Given the description of an element on the screen output the (x, y) to click on. 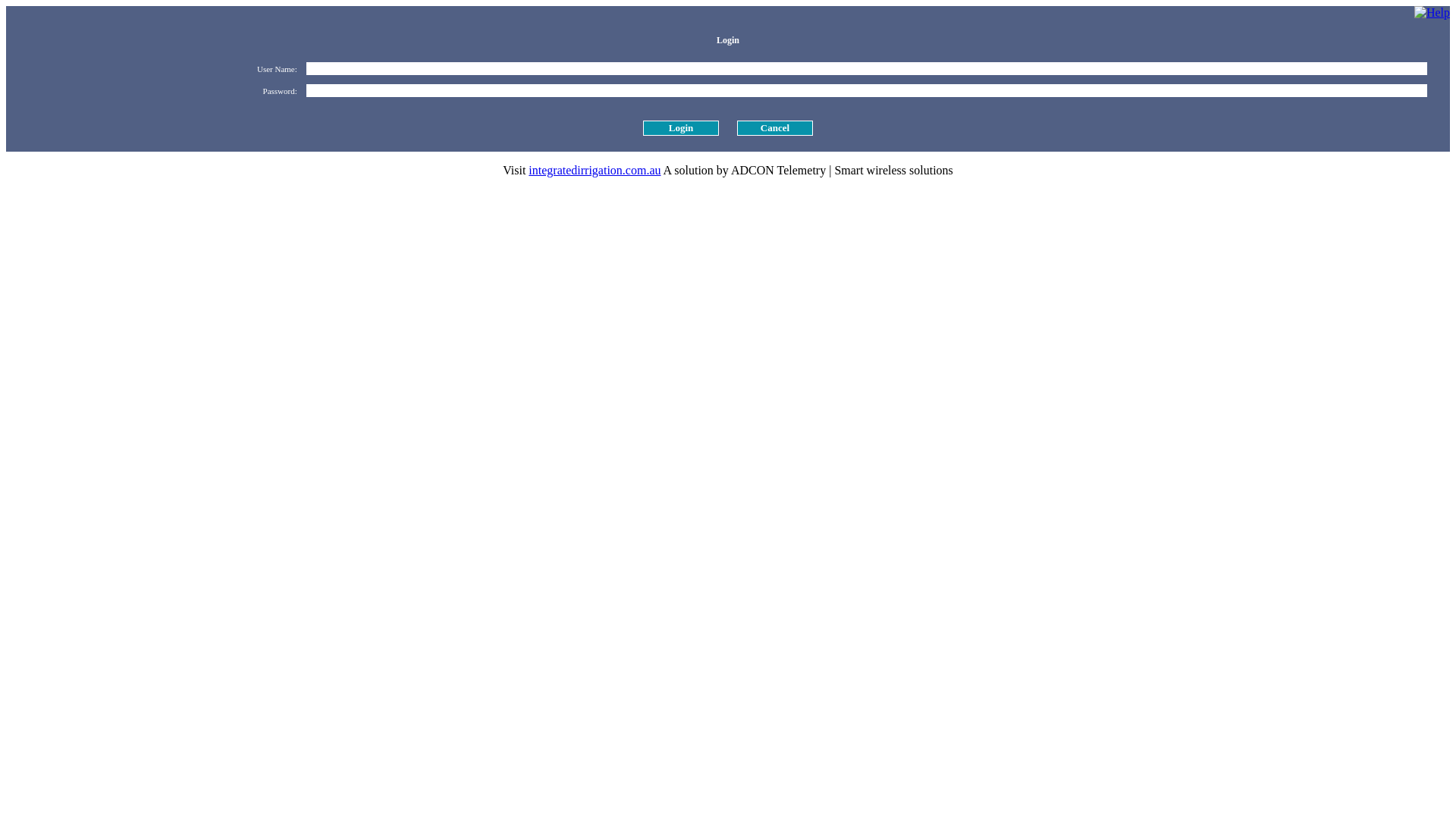
Help Element type: hover (1431, 12)
Cancel Element type: text (774, 127)
Login Element type: text (680, 127)
integratedirrigation.com.au Element type: text (594, 169)
